Given the description of an element on the screen output the (x, y) to click on. 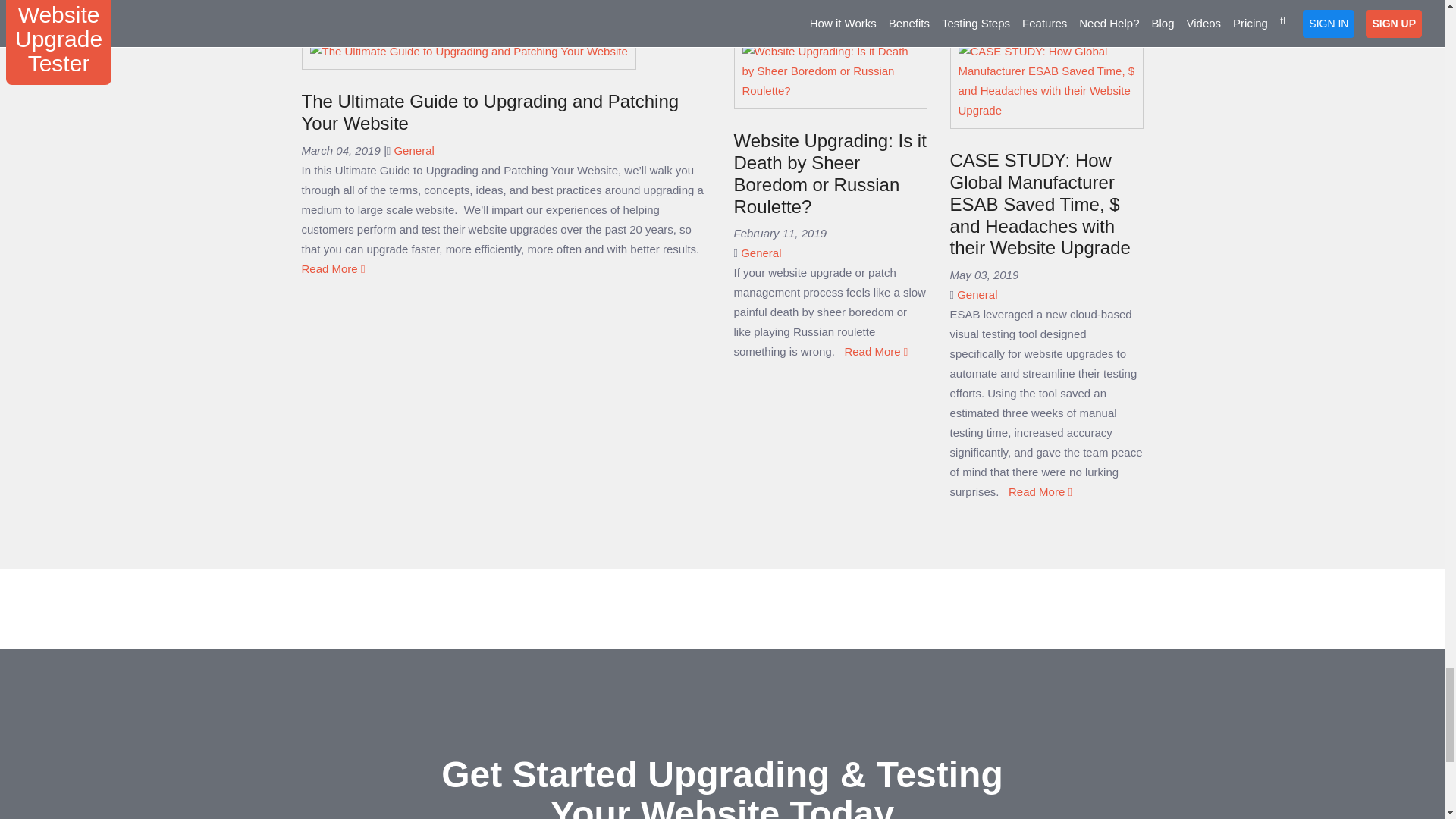
General (760, 252)
Read More (333, 268)
General (413, 150)
click to see all posts with this tag (413, 150)
click to see all posts with this tag (976, 294)
click to see all posts with this tag (760, 252)
